Given the description of an element on the screen output the (x, y) to click on. 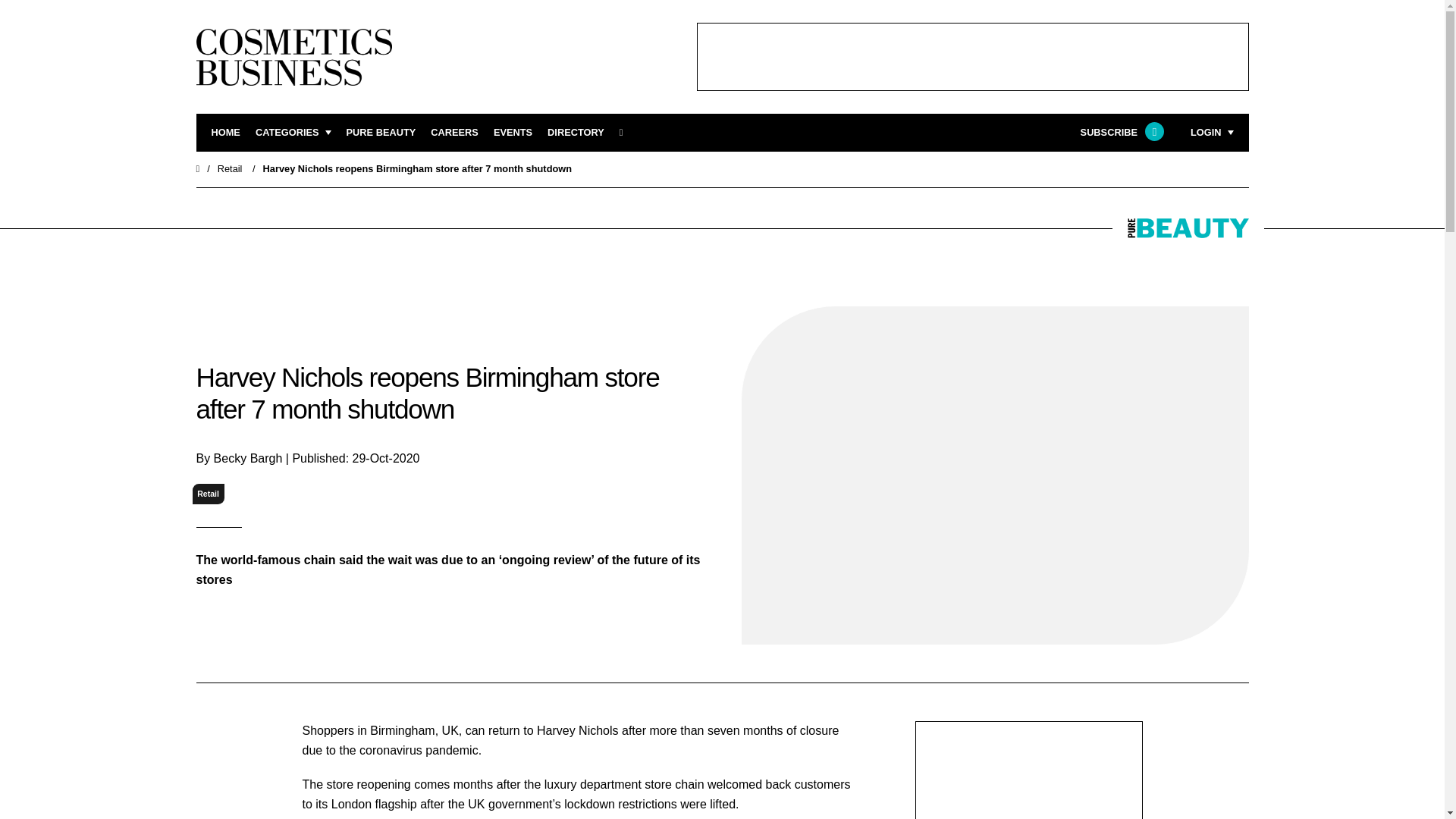
Retail (229, 168)
EVENTS (512, 133)
SEARCH (626, 133)
PURE BEAUTY (381, 133)
Directory (575, 133)
CATEGORIES (293, 133)
Retail (208, 494)
Sign In (1134, 321)
DIRECTORY (575, 133)
LOGIN (1212, 133)
SUBSCRIBE (1120, 133)
Pure Beauty (381, 133)
CAREERS (454, 133)
HOME (225, 133)
